Given the description of an element on the screen output the (x, y) to click on. 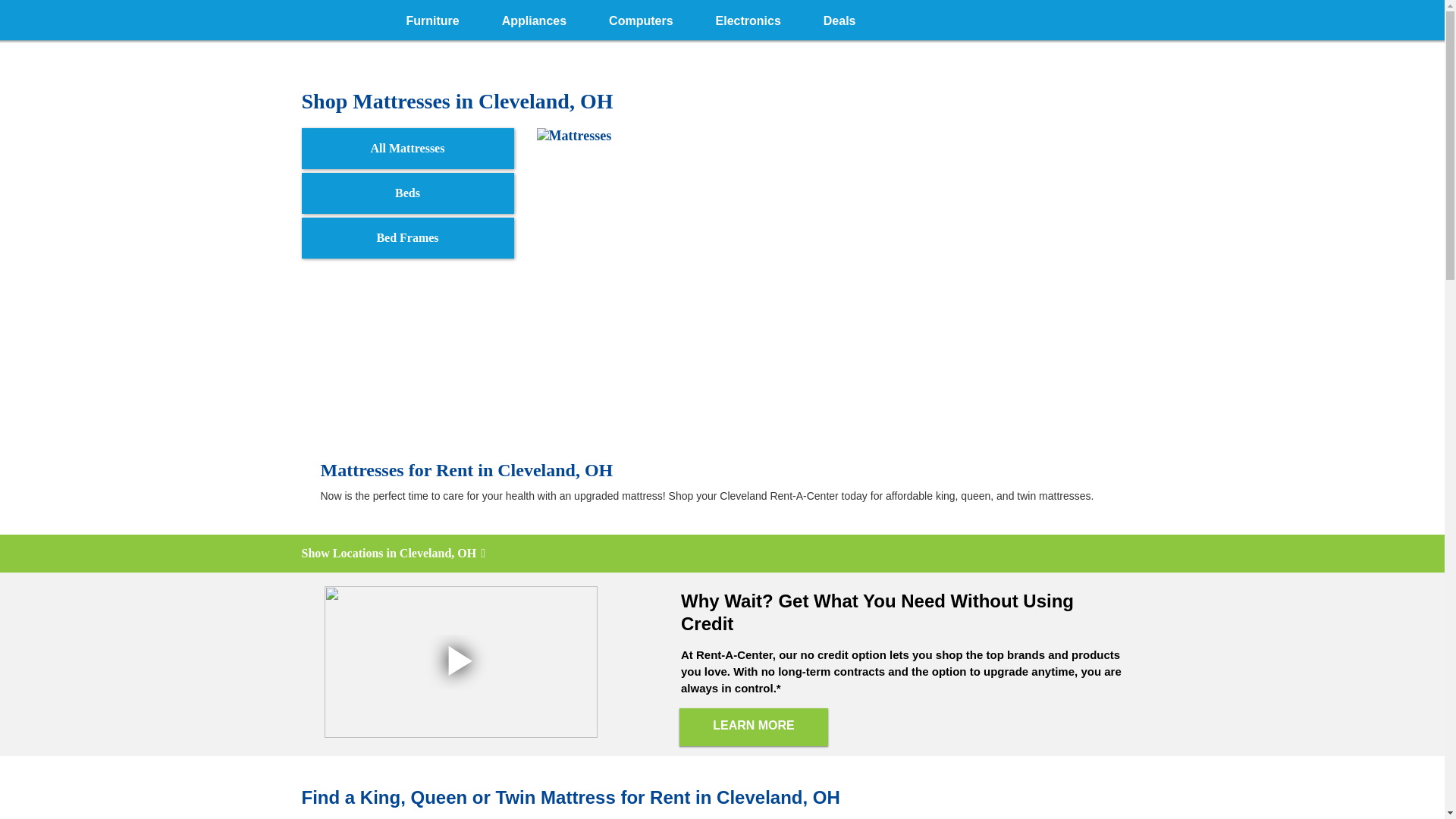
Appliances (534, 18)
Furniture (432, 18)
Deals (839, 18)
Computers (641, 18)
Bed Frames (407, 237)
Video (460, 661)
Beds (407, 192)
All Mattresses (407, 147)
Show Locations in Cleveland, OH (722, 553)
LEARN MORE (753, 727)
